Given the description of an element on the screen output the (x, y) to click on. 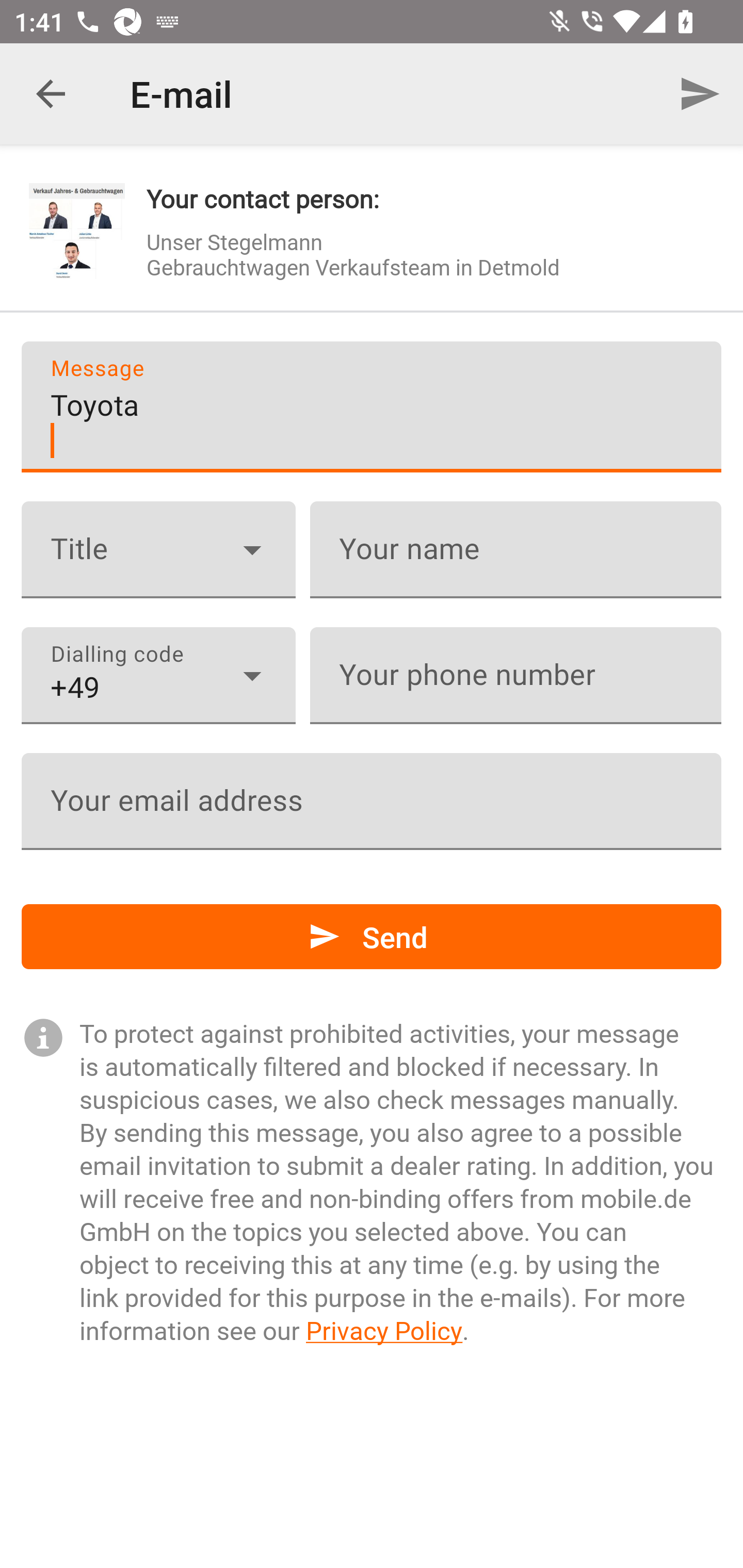
Navigate up (50, 93)
Send (699, 93)
Toyota
 (371, 406)
Title (158, 549)
Your name (515, 549)
Show dropdown menu (251, 549)
+49 (158, 675)
Your phone number (515, 675)
Show dropdown menu (251, 675)
Your email address (371, 800)
Send (371, 936)
